Given the description of an element on the screen output the (x, y) to click on. 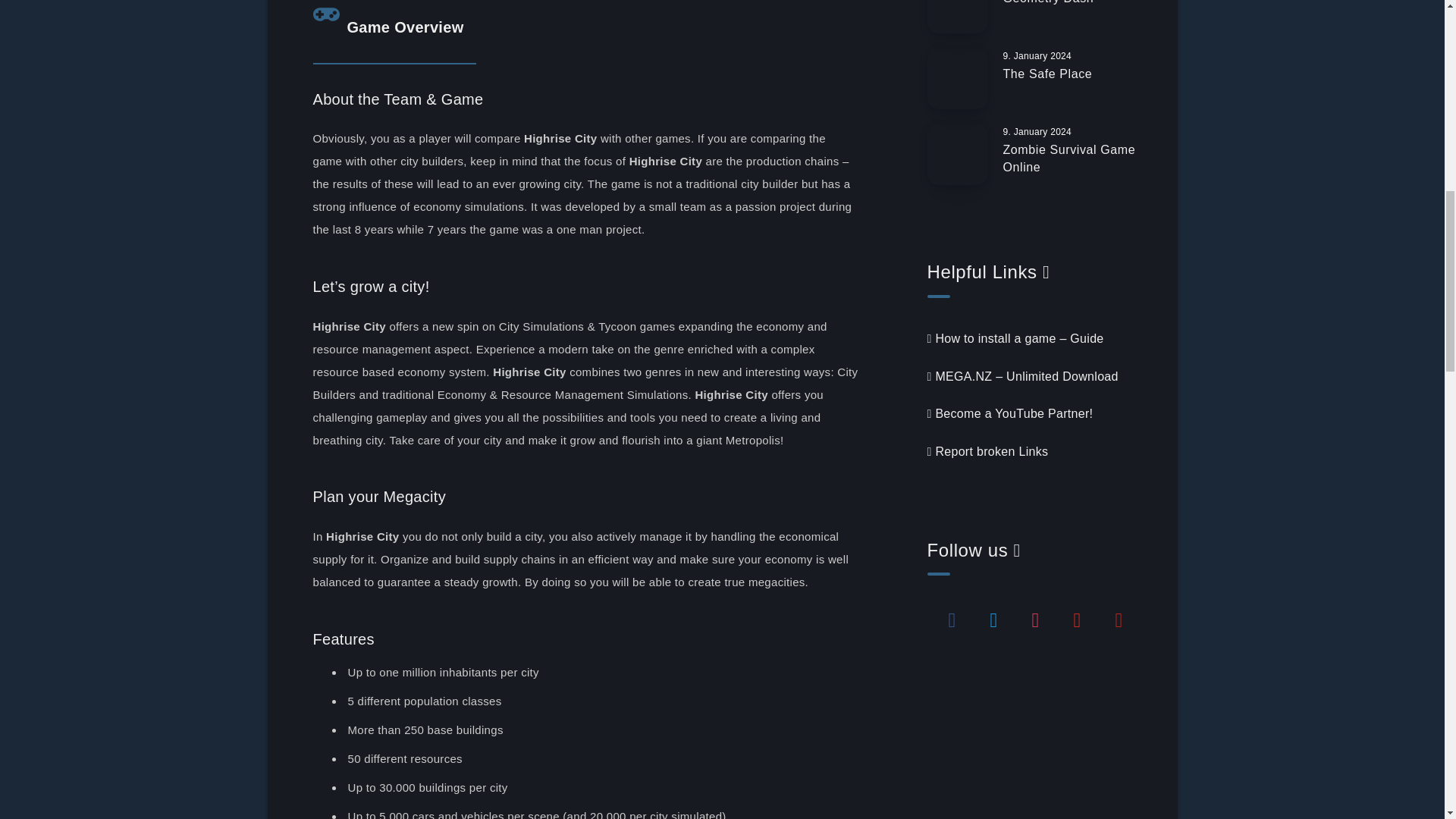
Geometry Dash (1048, 4)
Zombie Survival Game Online (1069, 160)
The Safe Place (1047, 75)
